Given the description of an element on the screen output the (x, y) to click on. 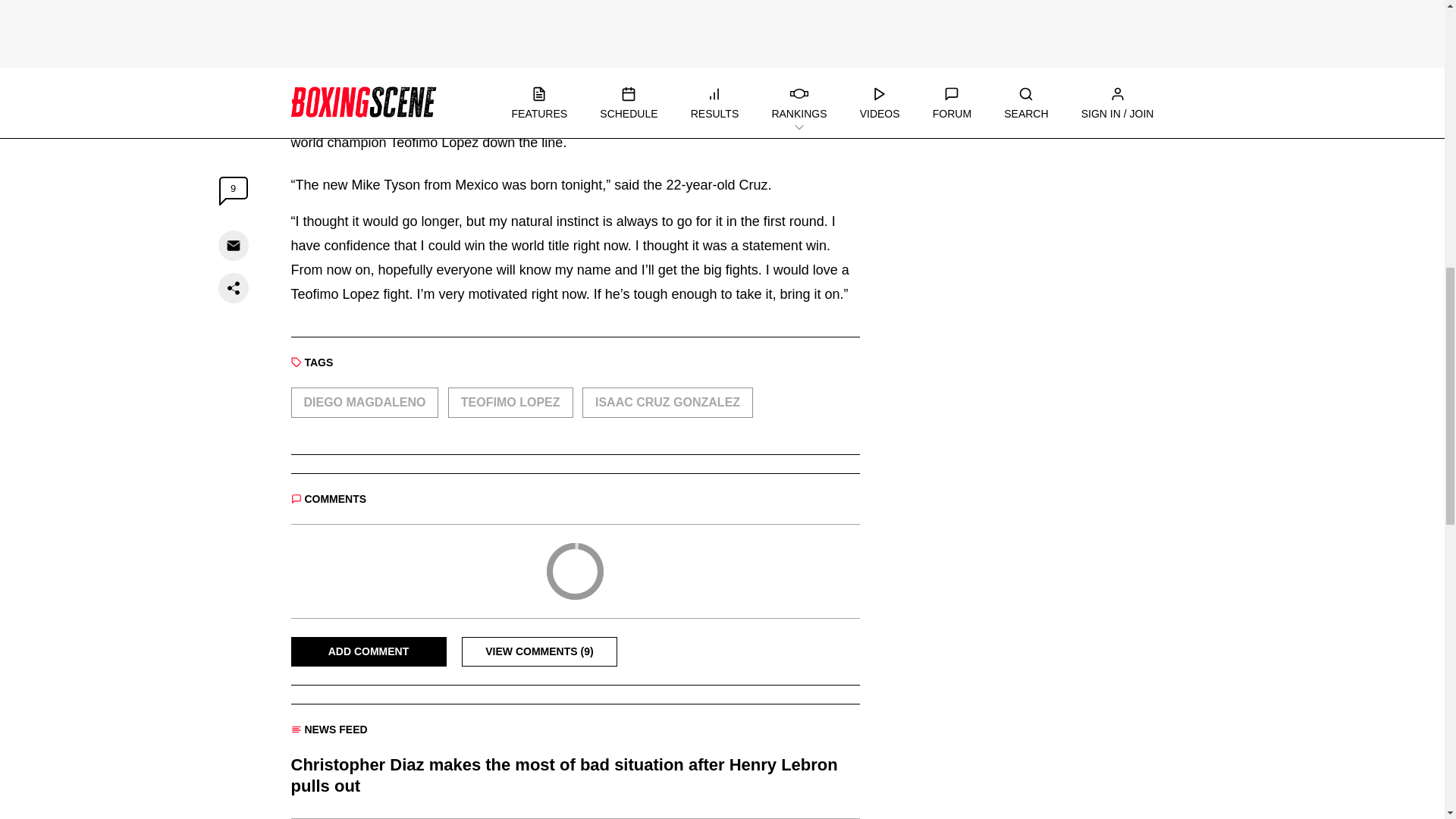
NEWS FEED (329, 729)
ISAAC CRUZ GONZALEZ (667, 402)
TEOFIMO LOPEZ (510, 402)
DIEGO MAGDALENO (365, 402)
ADD COMMENT (368, 651)
